Given the description of an element on the screen output the (x, y) to click on. 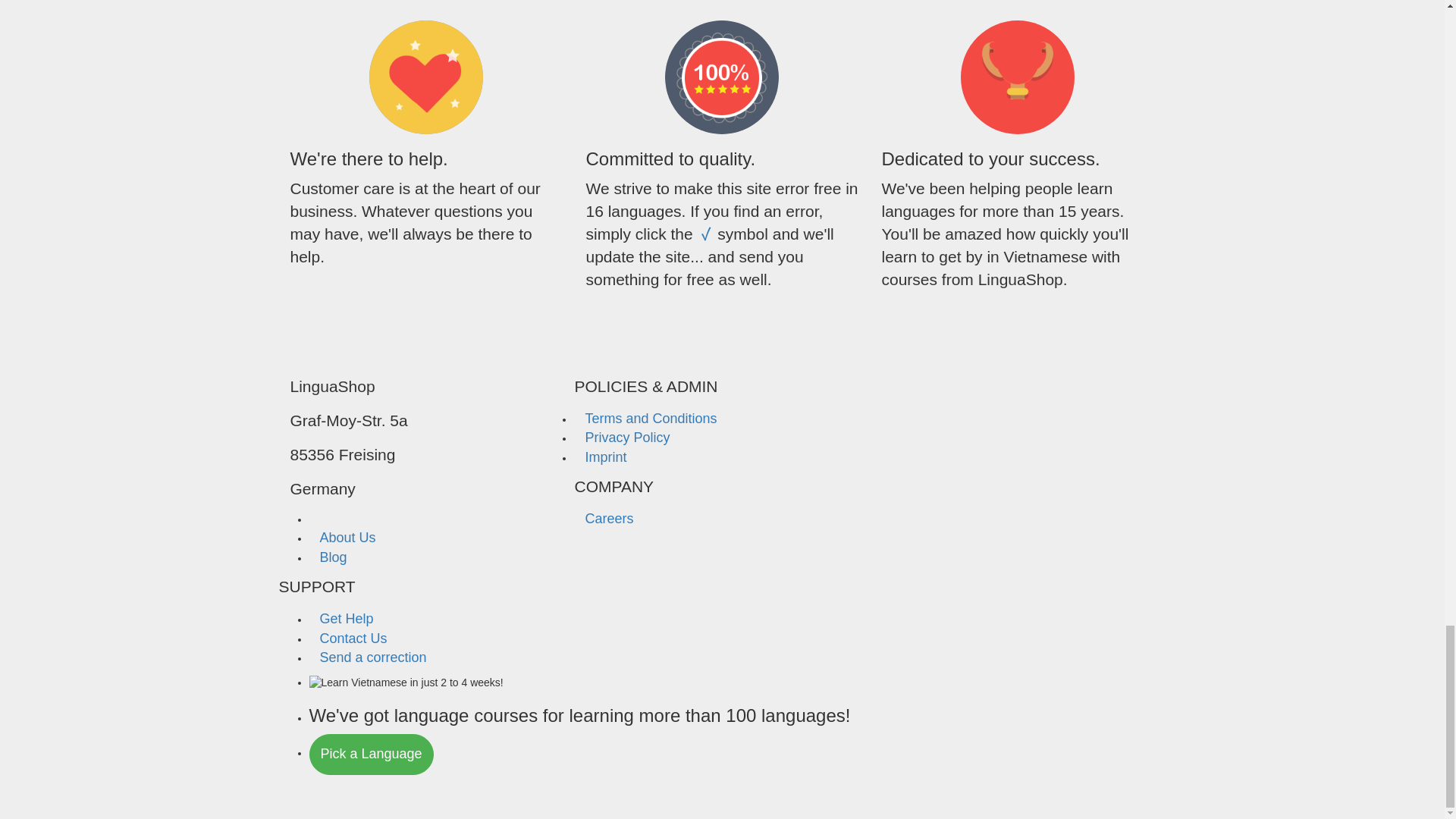
Privacy Policy (626, 437)
Pick a Language (370, 753)
Imprint (605, 456)
Get Help (346, 618)
Contact Us (352, 637)
Blog (333, 556)
About Us (347, 537)
Terms and Conditions (649, 418)
Send a correction (373, 657)
Careers (608, 518)
